Given the description of an element on the screen output the (x, y) to click on. 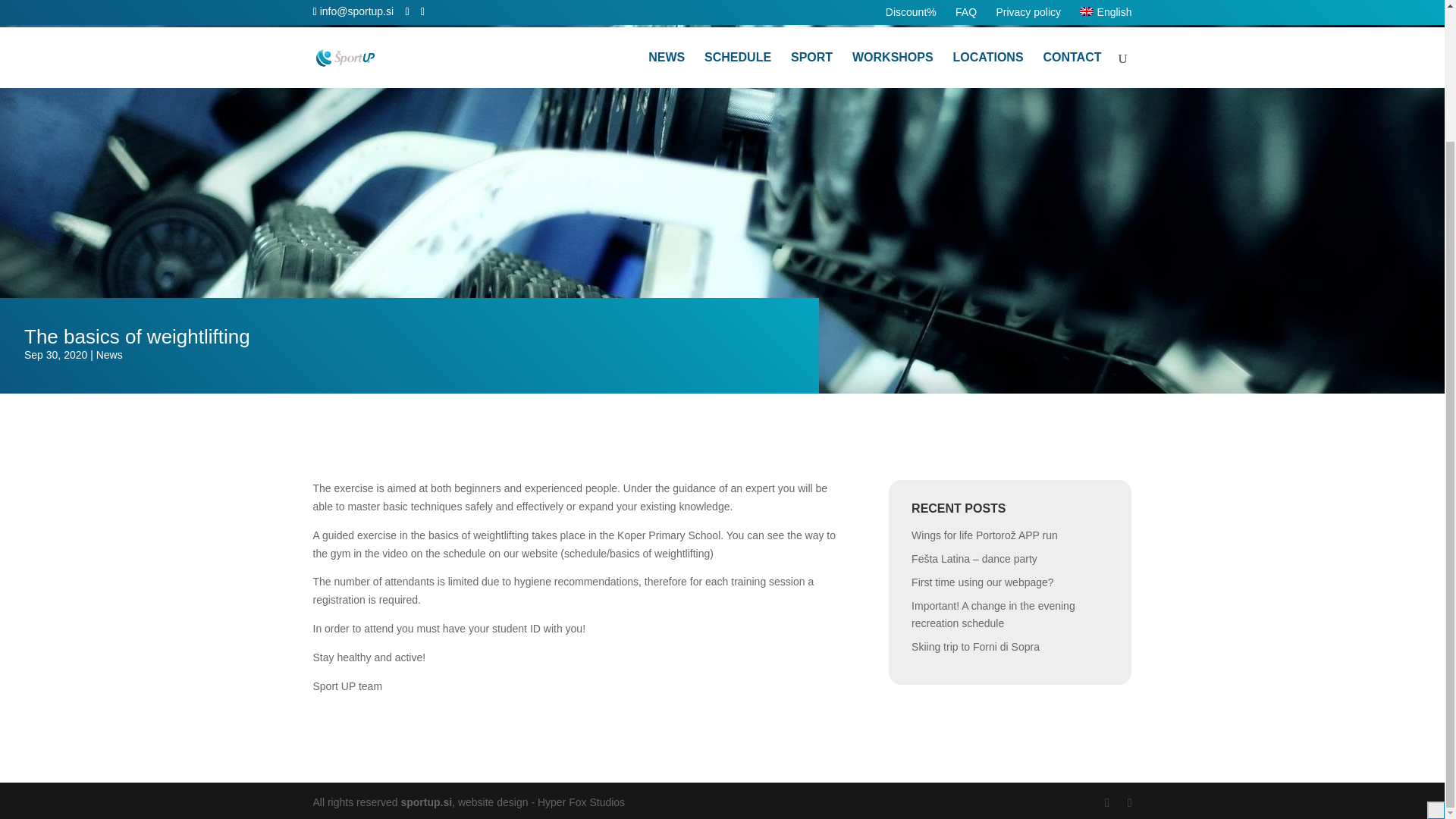
First time using our webpage? (982, 582)
Skiing trip to Forni di Sopra (975, 646)
Hyper Fox Studios (580, 802)
News (109, 354)
Hyper Fox Studios (580, 802)
Important! A change in the evening recreation schedule (993, 614)
